Given the description of an element on the screen output the (x, y) to click on. 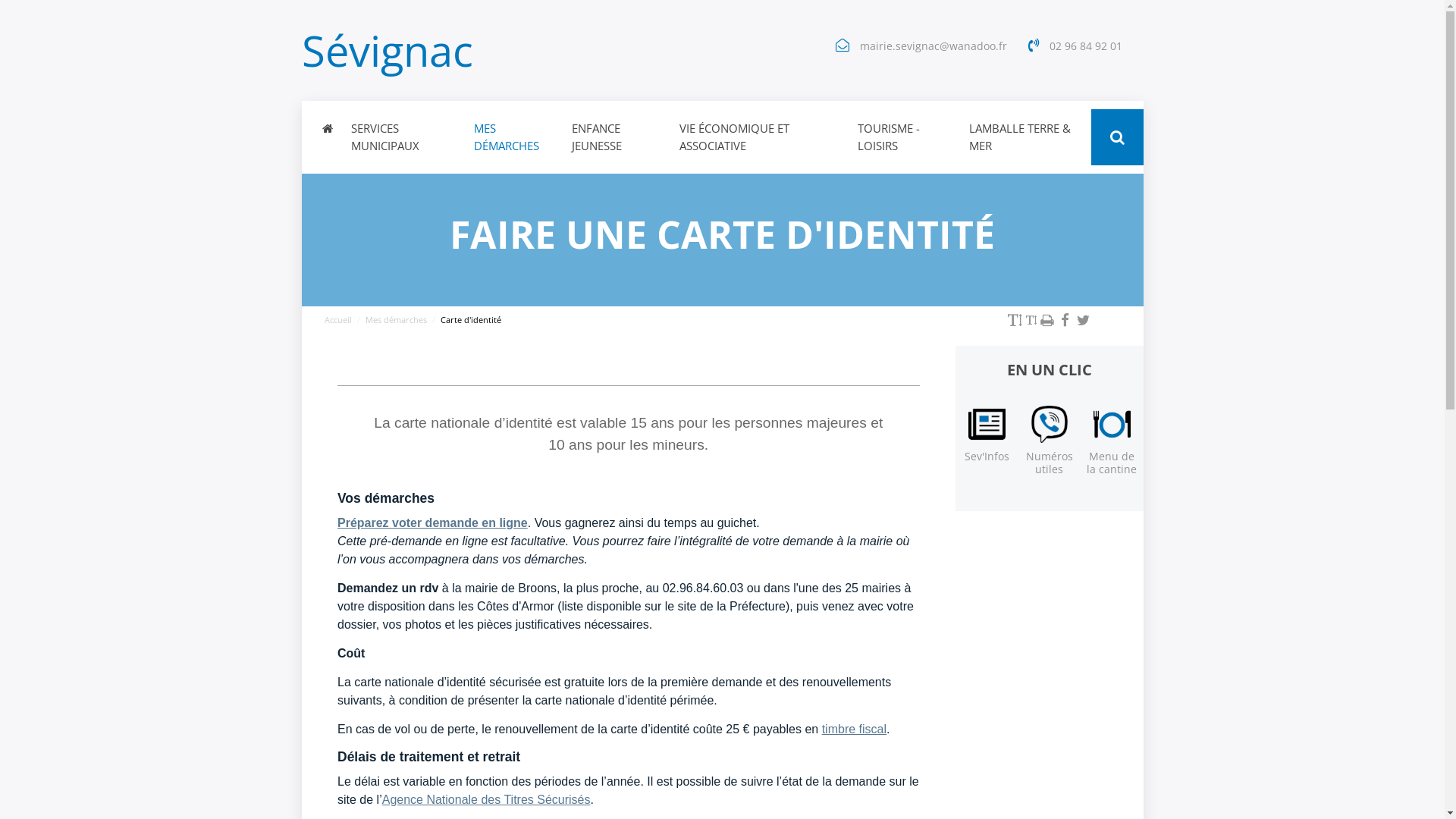
Partager sur twitter Element type: hover (1083, 319)
SERVICES MUNICIPAUX Element type: text (402, 136)
TOURISME - LOISIRS Element type: text (904, 136)
Sev'Infos Element type: text (986, 455)
Partager sur facebook Element type: hover (1065, 319)
ENFANCE JEUNESSE Element type: text (616, 136)
Menu de la cantine Element type: text (1111, 462)
timbre fiscal Element type: text (854, 728)
Imprimer la page Element type: hover (1047, 319)
LAMBALLE TERRE & MER Element type: text (1025, 136)
Accueil Element type: text (337, 319)
mairie.sevignac@wanadoo.fr Element type: text (933, 45)
